Given the description of an element on the screen output the (x, y) to click on. 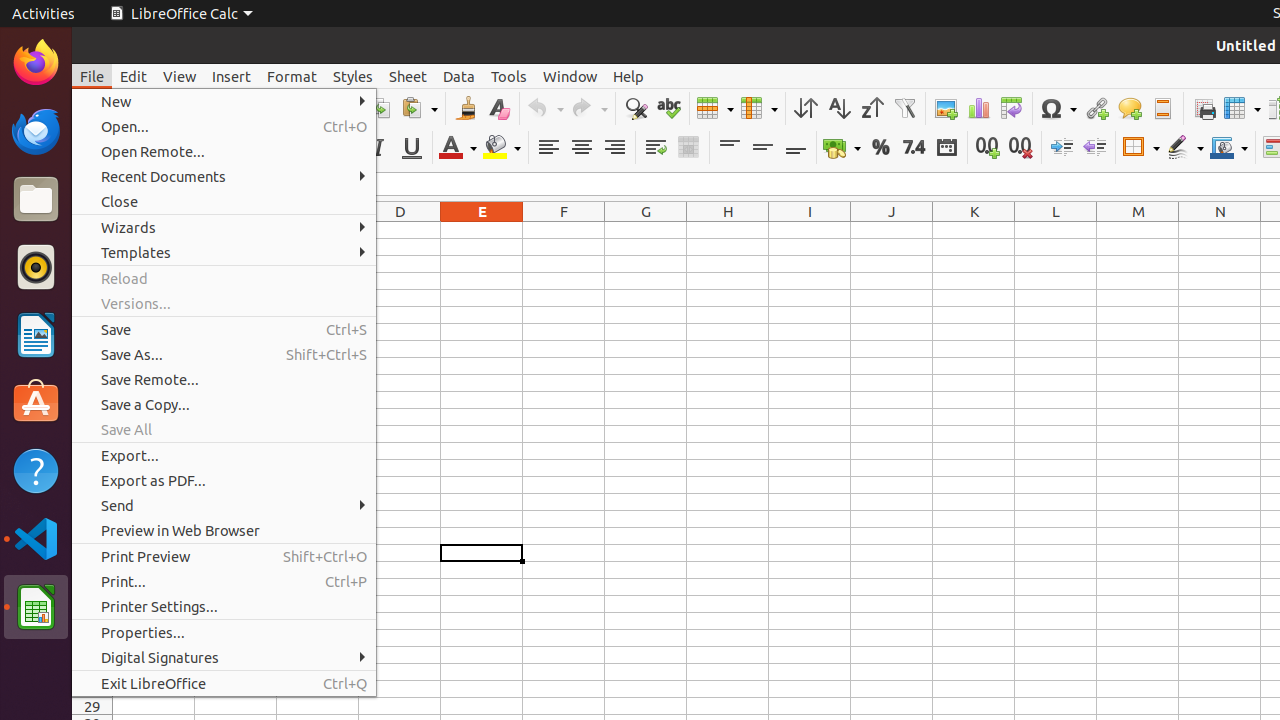
Column Element type: push-button (759, 108)
Increase Element type: push-button (1061, 147)
Image Element type: push-button (945, 108)
New Element type: menu (224, 101)
Properties... Element type: menu-item (224, 632)
